Given the description of an element on the screen output the (x, y) to click on. 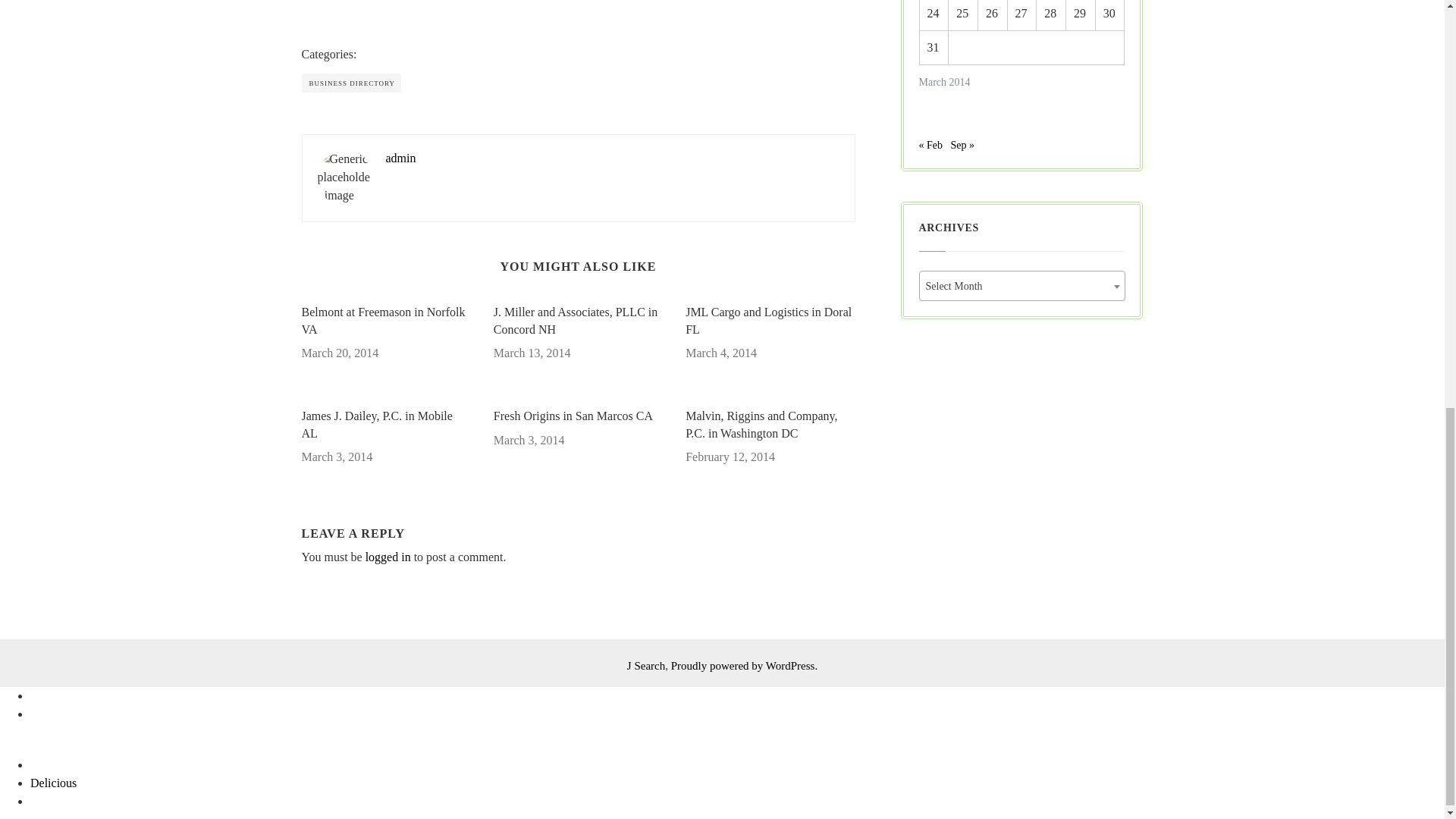
admin (399, 157)
Select Month (1021, 286)
Proudly powered by WordPress. (744, 665)
logged in (387, 556)
J. Miller and Associates, PLLC in Concord NH (577, 320)
Belmont at Freemason in Norfolk VA (385, 320)
JML Cargo and Logistics in Doral FL (769, 320)
Malvin, Riggins and Company, P.C. in Washington DC (769, 424)
BUSINESS DIRECTORY (351, 83)
J Search (646, 665)
Delicious (53, 782)
James J. Dailey, P.C. in Mobile AL (385, 424)
Fresh Origins in San Marcos CA (577, 416)
